Given the description of an element on the screen output the (x, y) to click on. 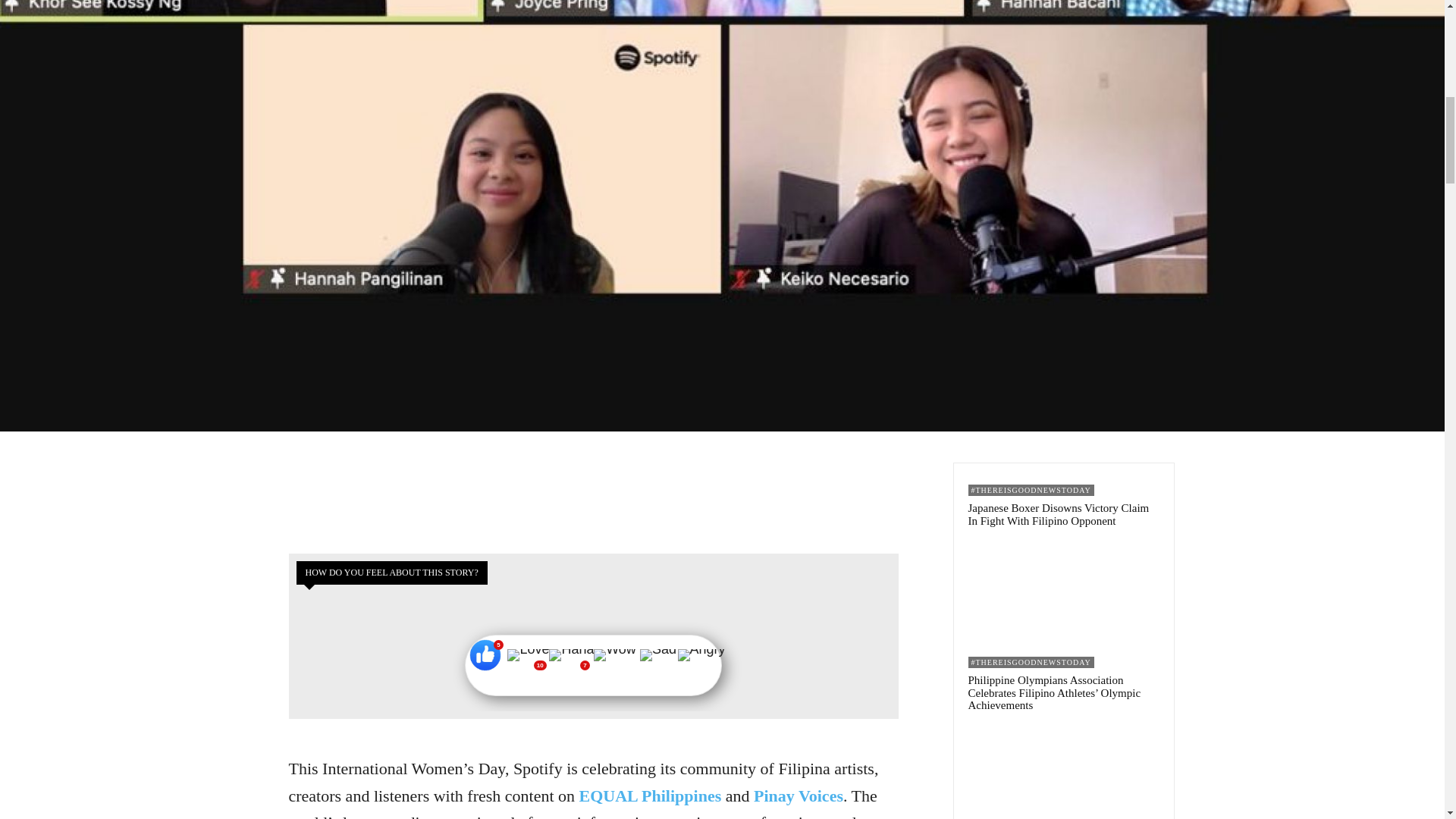
Pinay Voices (798, 795)
EQUAL Philippines (650, 795)
